Given the description of an element on the screen output the (x, y) to click on. 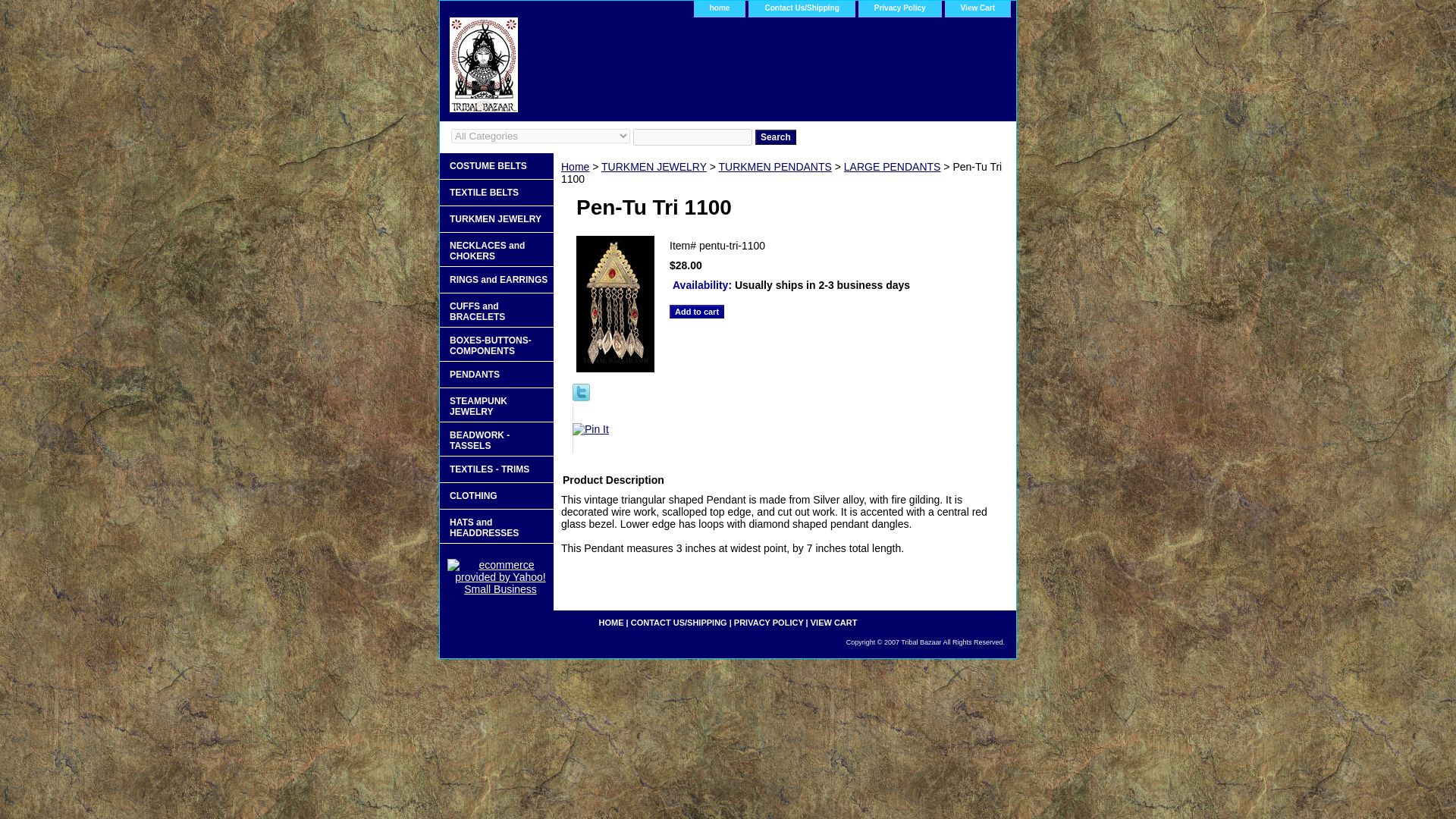
Add to cart (696, 311)
TURKMEN JEWELRY (653, 166)
Pin It (590, 428)
BOXES-BUTTONS-COMPONENTS (496, 344)
STEAMPUNK JEWELRY (496, 405)
TEXTILE BELTS (496, 192)
Search (775, 136)
CUFFS and BRACELETS (496, 310)
STEAMPUNK JEWELRY (496, 405)
PRIVACY POLICY (768, 622)
BEADWORK -TASSELS (496, 439)
HOME (611, 622)
 COSTUME  BELTS (496, 166)
CLOTHING (496, 496)
PENDANTS (496, 374)
